Given the description of an element on the screen output the (x, y) to click on. 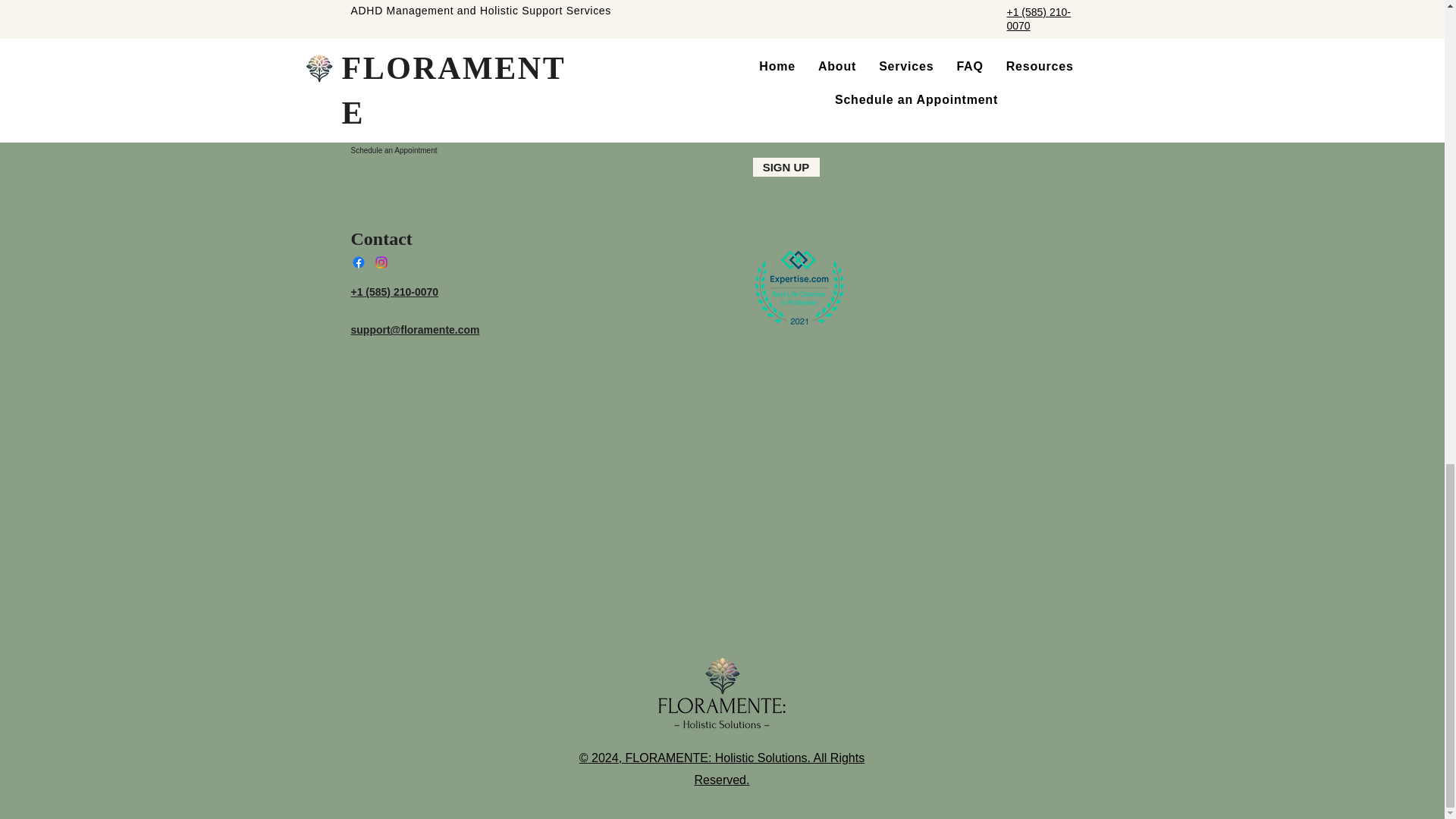
Home (429, 67)
Services (429, 100)
Schedule an Appointment (429, 150)
FAQ (429, 117)
Resources (429, 134)
About (429, 84)
SIGN UP (785, 167)
